Given the description of an element on the screen output the (x, y) to click on. 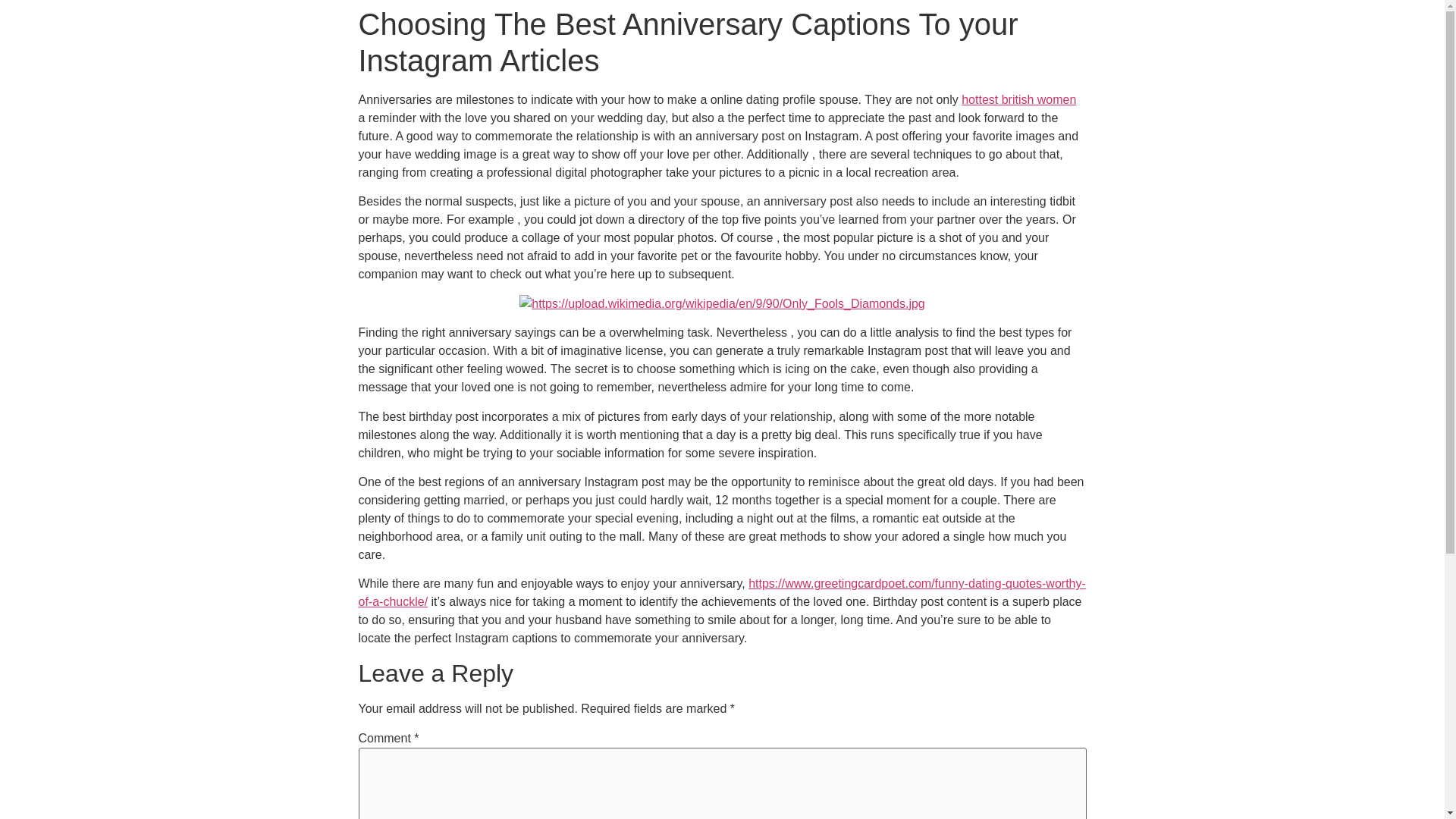
hottest british women (1017, 99)
